Given the description of an element on the screen output the (x, y) to click on. 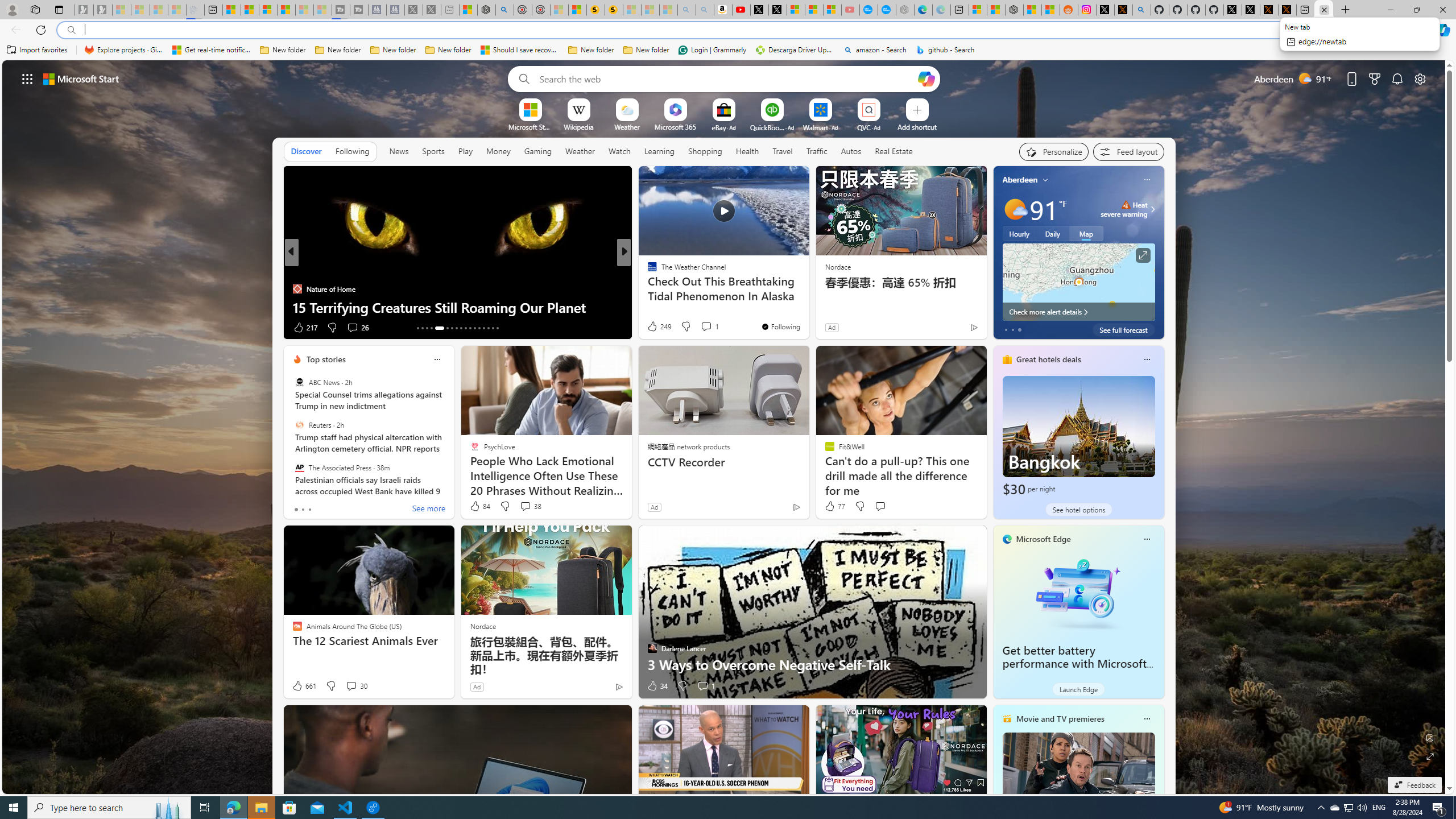
CCTV Recorder (723, 462)
Heat - Severe (1126, 204)
View comments 30 Comment (350, 685)
Newsletter Sign Up - Sleeping (102, 9)
View comments 3 Comment (703, 327)
This story is trending (951, 329)
